Given the description of an element on the screen output the (x, y) to click on. 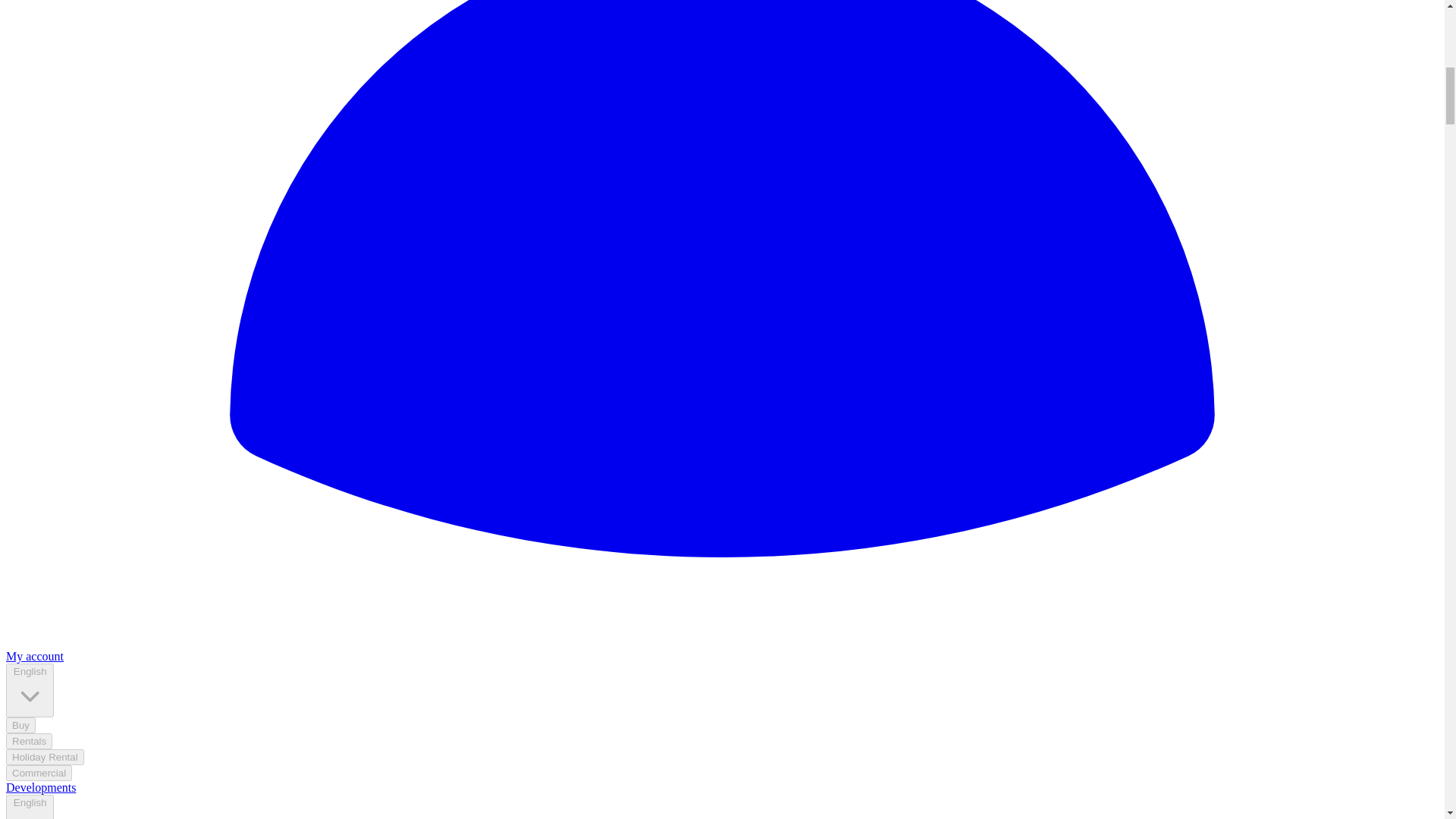
Rentals (28, 741)
Commercial (38, 772)
Buy (19, 725)
Holiday Rental (44, 756)
